Given the description of an element on the screen output the (x, y) to click on. 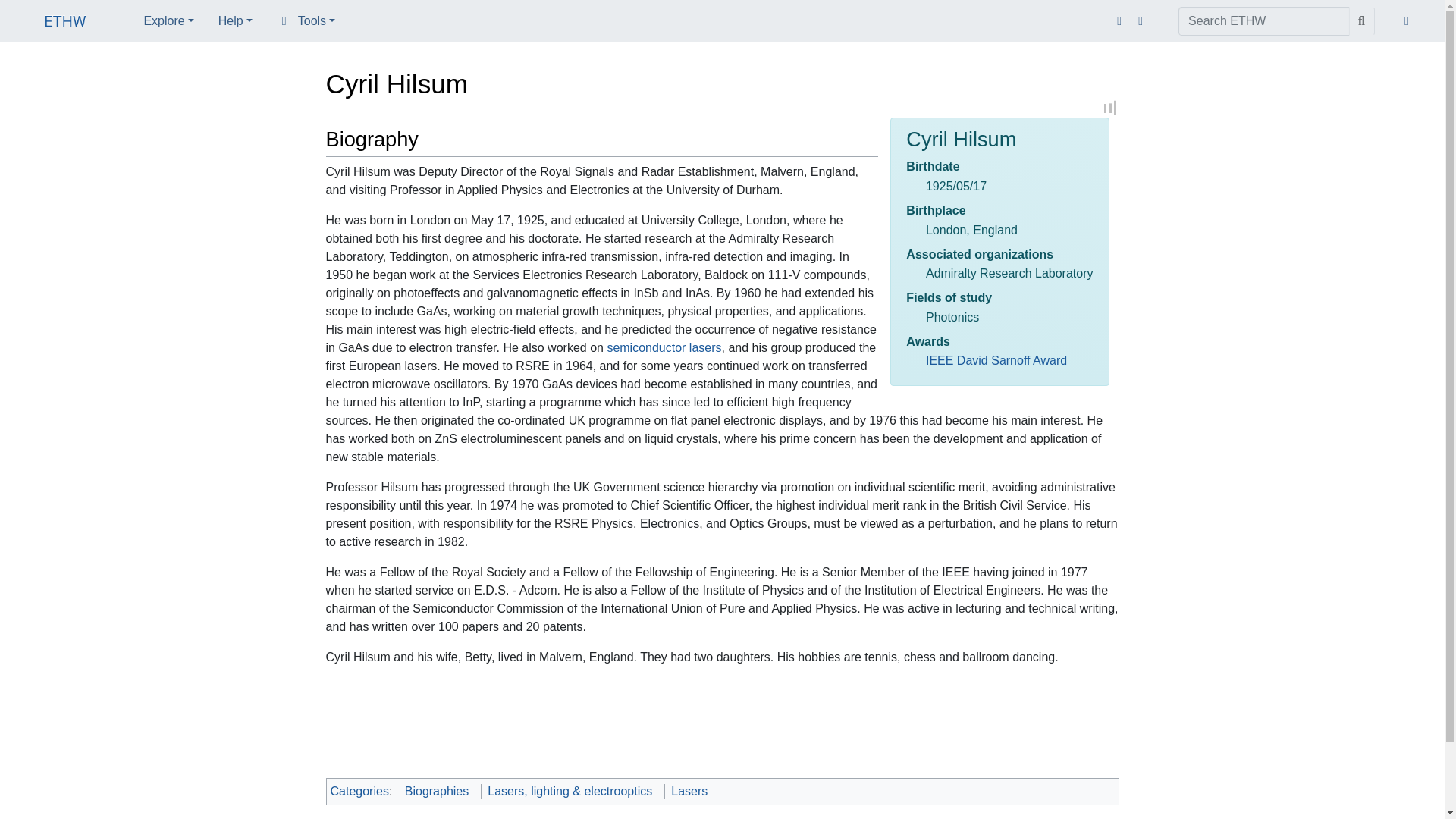
Go (1361, 21)
Help (235, 20)
Explore (168, 20)
Visit the main page (65, 22)
Go to a page with this exact name if it exists (1361, 21)
Tools (305, 20)
IEEE David Sarnoff Award (996, 359)
semiconductor lasers (663, 347)
